Given the description of an element on the screen output the (x, y) to click on. 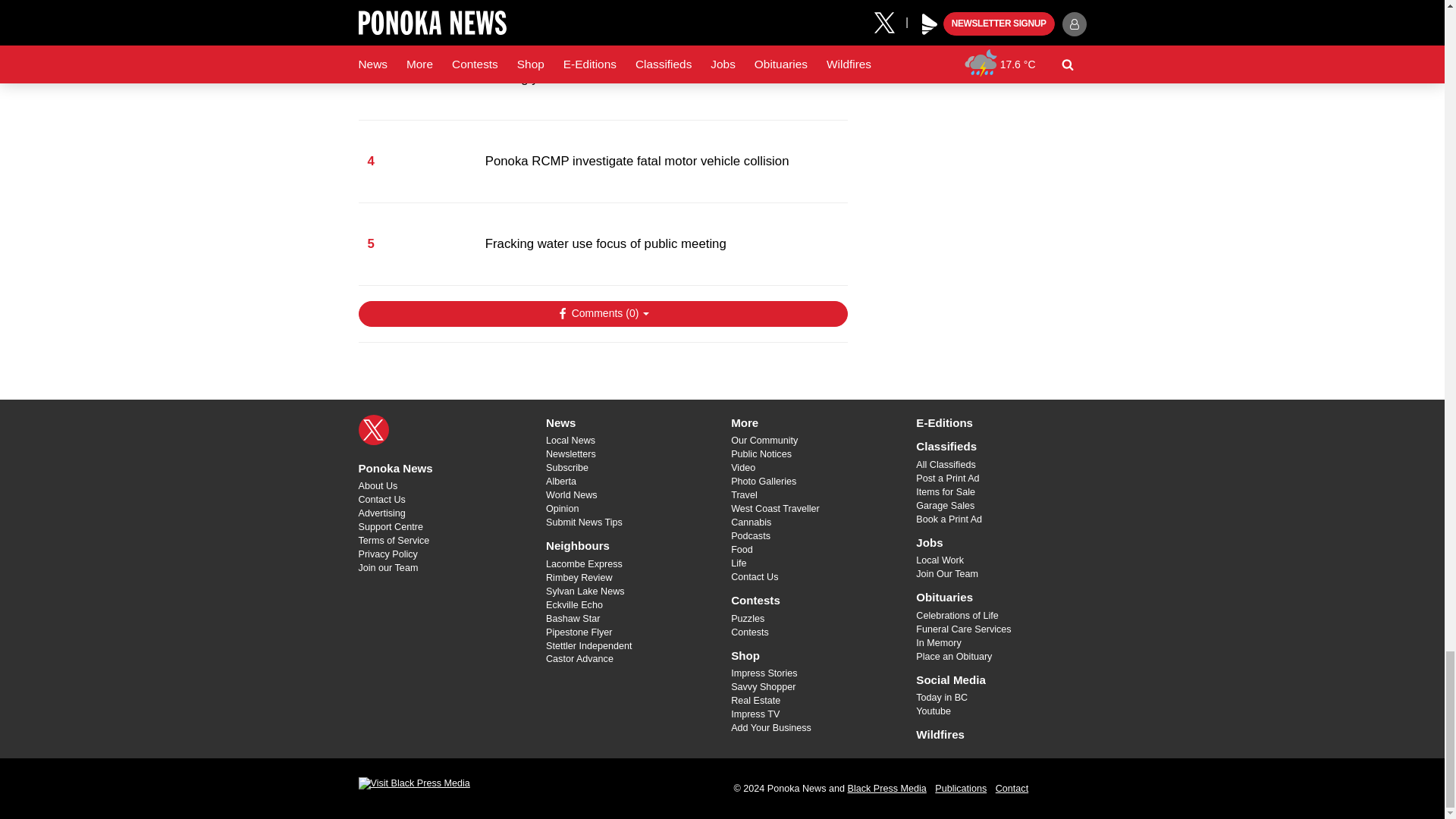
X (373, 429)
Show Comments (602, 313)
